Given the description of an element on the screen output the (x, y) to click on. 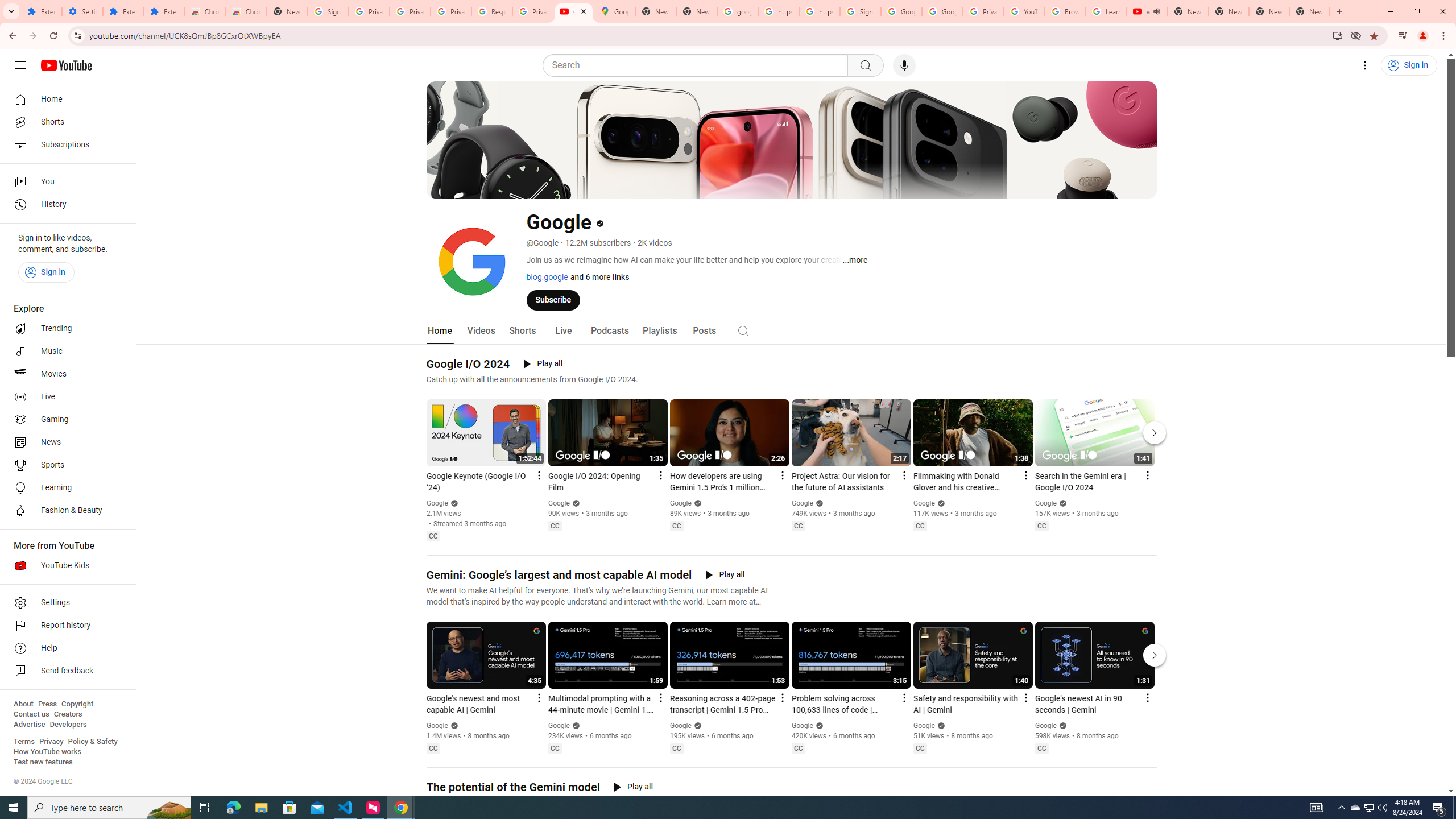
Extensions (122, 11)
Test new features (42, 761)
Contact us (31, 714)
Play all (633, 787)
Learning (64, 487)
Gaming (64, 419)
